Given the description of an element on the screen output the (x, y) to click on. 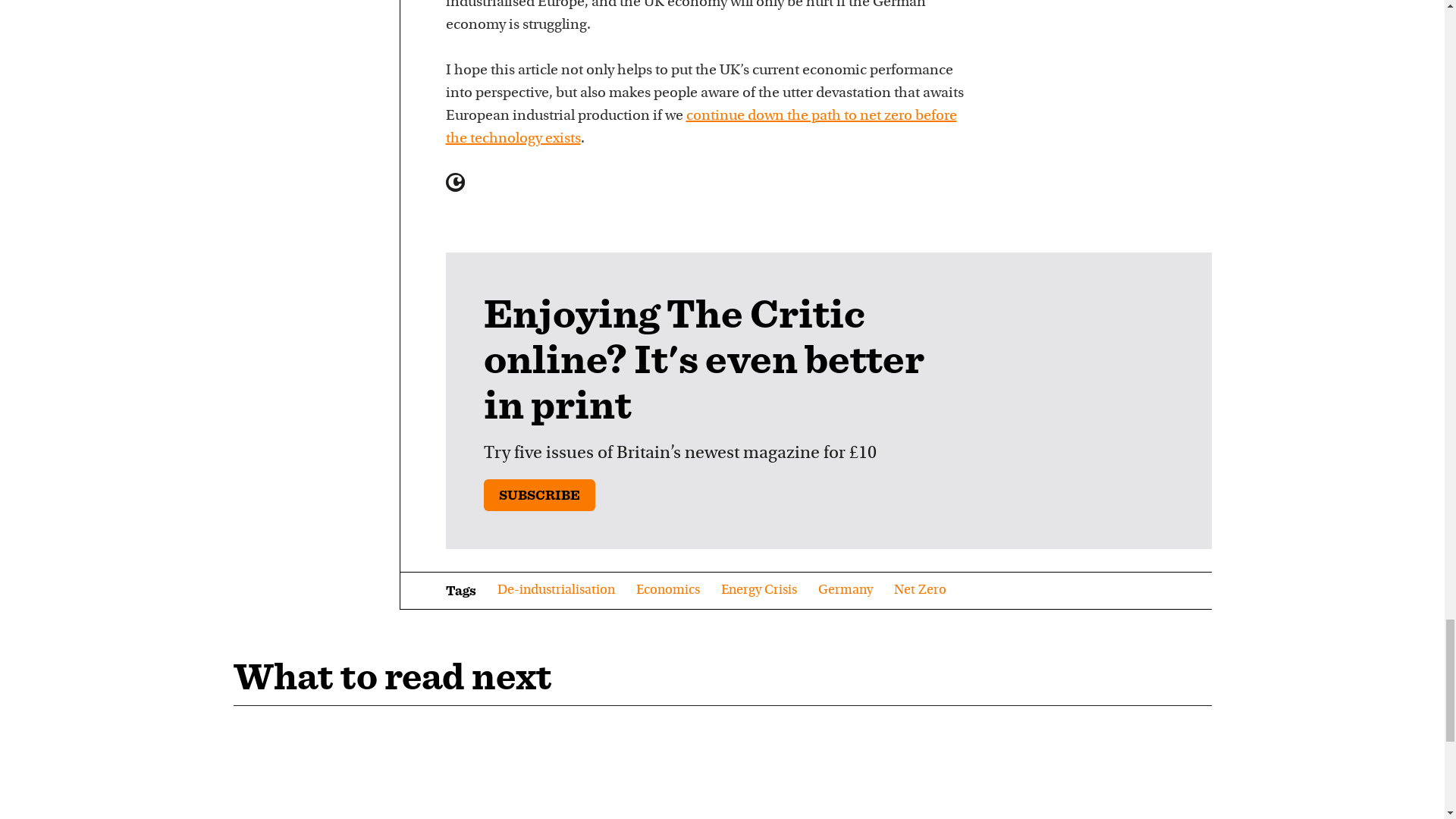
SUBSCRIBE (539, 495)
De-industrialisation (555, 590)
Economics (666, 590)
